Given the description of an element on the screen output the (x, y) to click on. 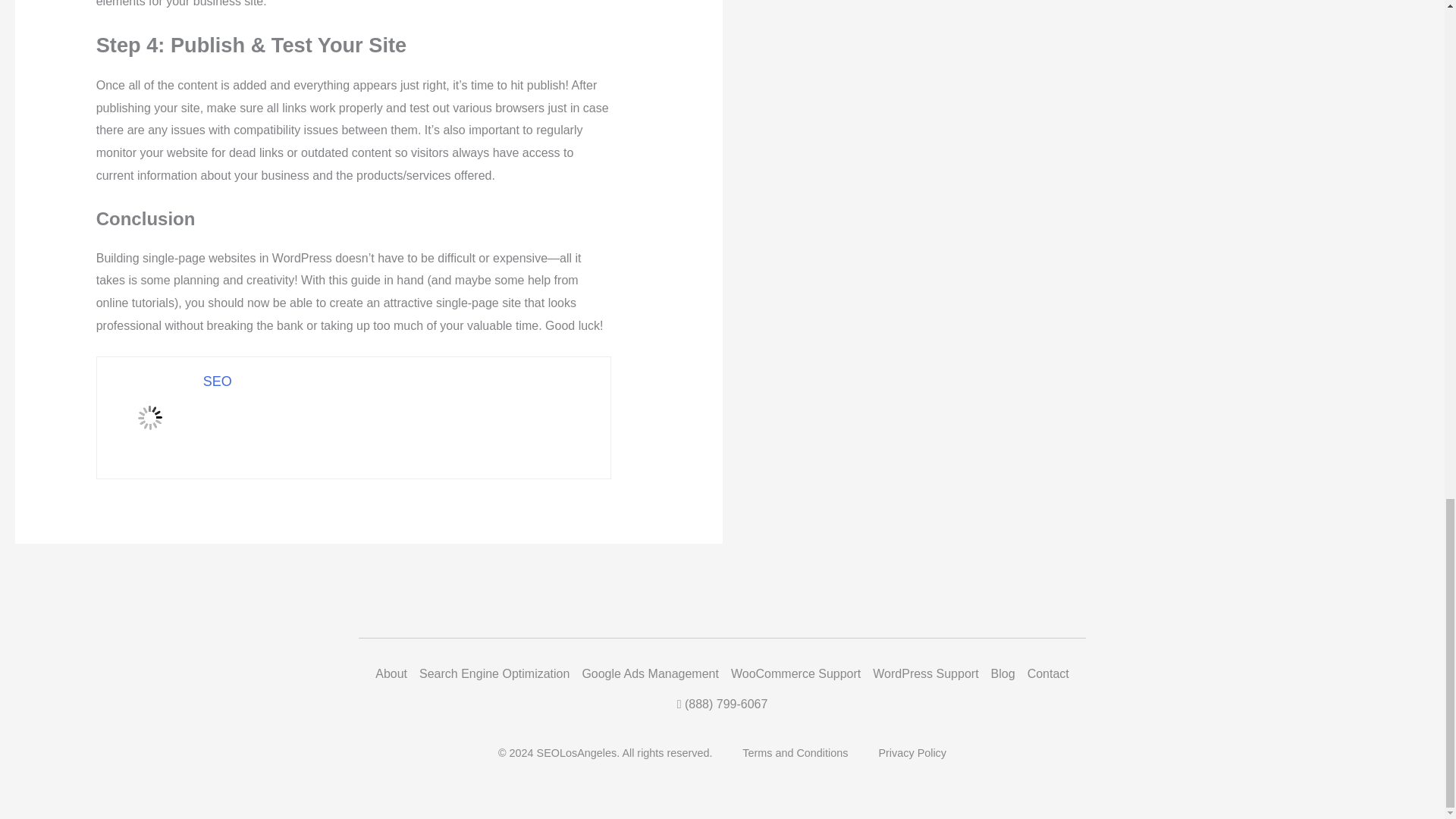
SEO (217, 381)
